Given the description of an element on the screen output the (x, y) to click on. 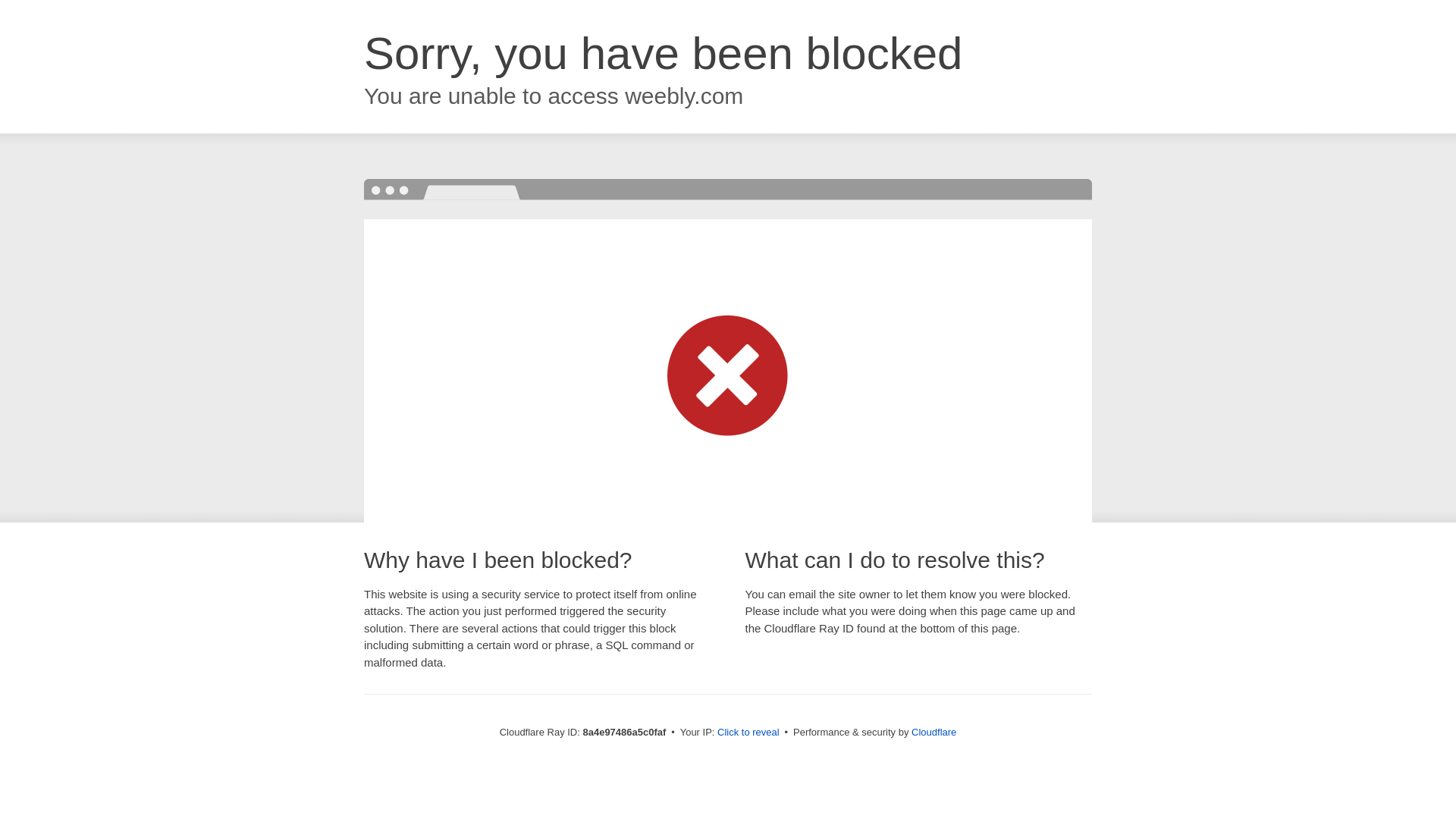
Cloudflare (933, 731)
Click to reveal (747, 732)
